Given the description of an element on the screen output the (x, y) to click on. 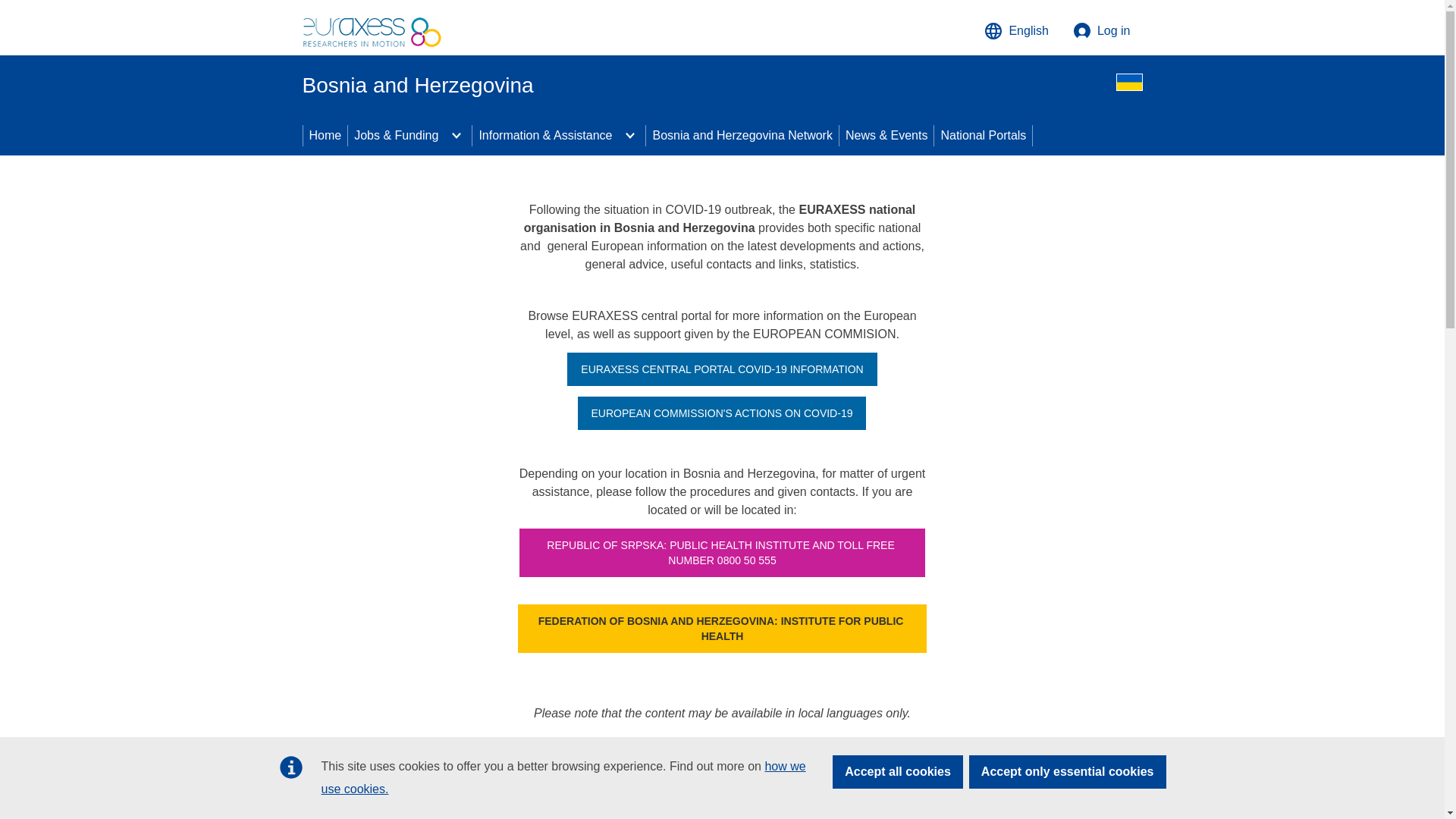
Ukraine Element type: hover (1129, 82)
Q&A ON COVID-19 PROVIDED BY ECDC Element type: text (721, 774)
National Portals Element type: text (983, 135)
Log in Element type: text (1101, 30)
Information & Assistance Element type: text (543, 135)
Logo of EURAXESS Element type: hover (371, 27)
Bosnia and Herzegovina Network Element type: text (741, 135)
Jobs & Funding Element type: text (394, 135)
EURAXESS CENTRAL PORTAL COVID-19 INFORMATION Element type: text (721, 369)
Home Element type: text (325, 135)
Skip to main content Element type: text (6, 6)
Accept only essential cookies Element type: text (1067, 771)
EUROPEAN COMMISSION'S ACTIONS ON COVID-19 Element type: text (722, 413)
Accept all cookies Element type: text (897, 771)
News & Events Element type: text (886, 135)
English Element type: text (1016, 30)
how we use cookies. Element type: text (563, 777)
